Given the description of an element on the screen output the (x, y) to click on. 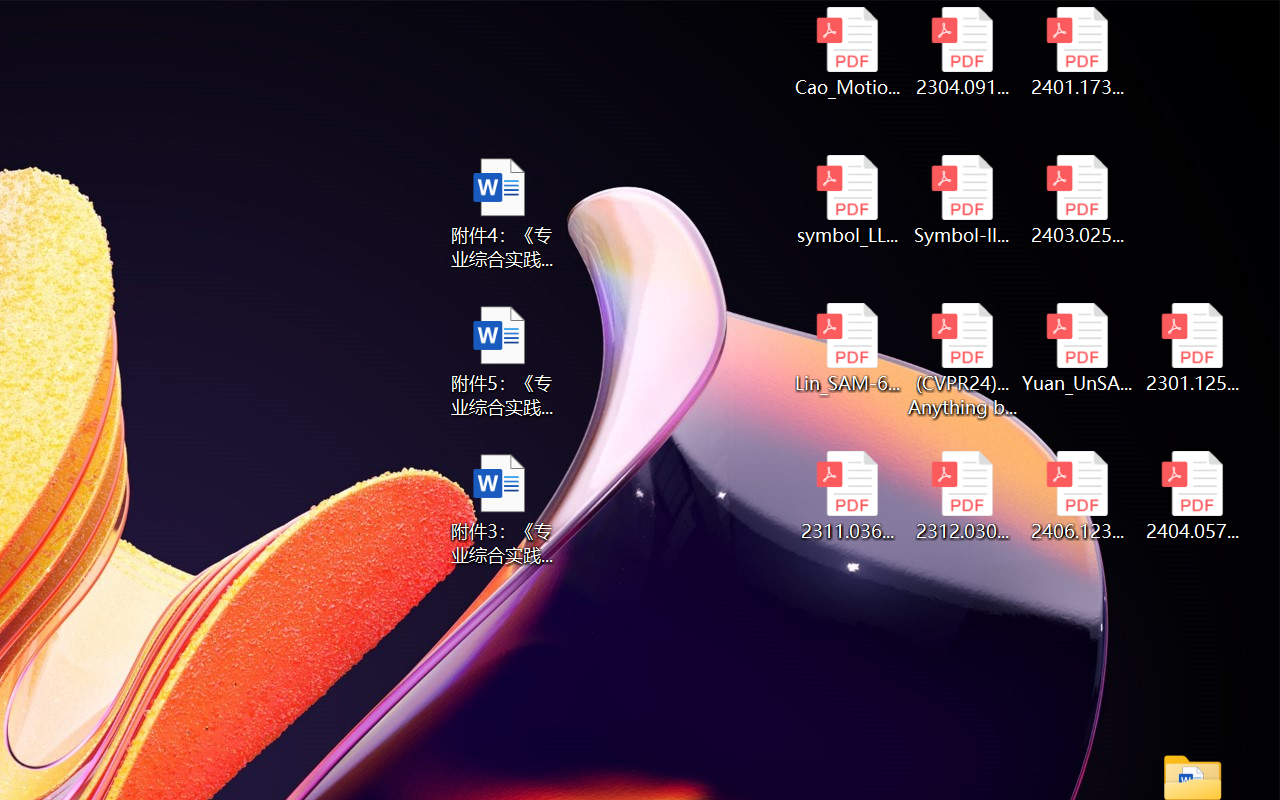
2301.12597v3.pdf (1192, 348)
2403.02502v1.pdf (1077, 200)
2312.03032v2.pdf (962, 496)
2304.09121v3.pdf (962, 52)
2401.17399v1.pdf (1077, 52)
Symbol-llm-v2.pdf (962, 200)
symbol_LLM.pdf (846, 200)
2311.03658v2.pdf (846, 496)
2404.05719v1.pdf (1192, 496)
2406.12373v2.pdf (1077, 496)
